Given the description of an element on the screen output the (x, y) to click on. 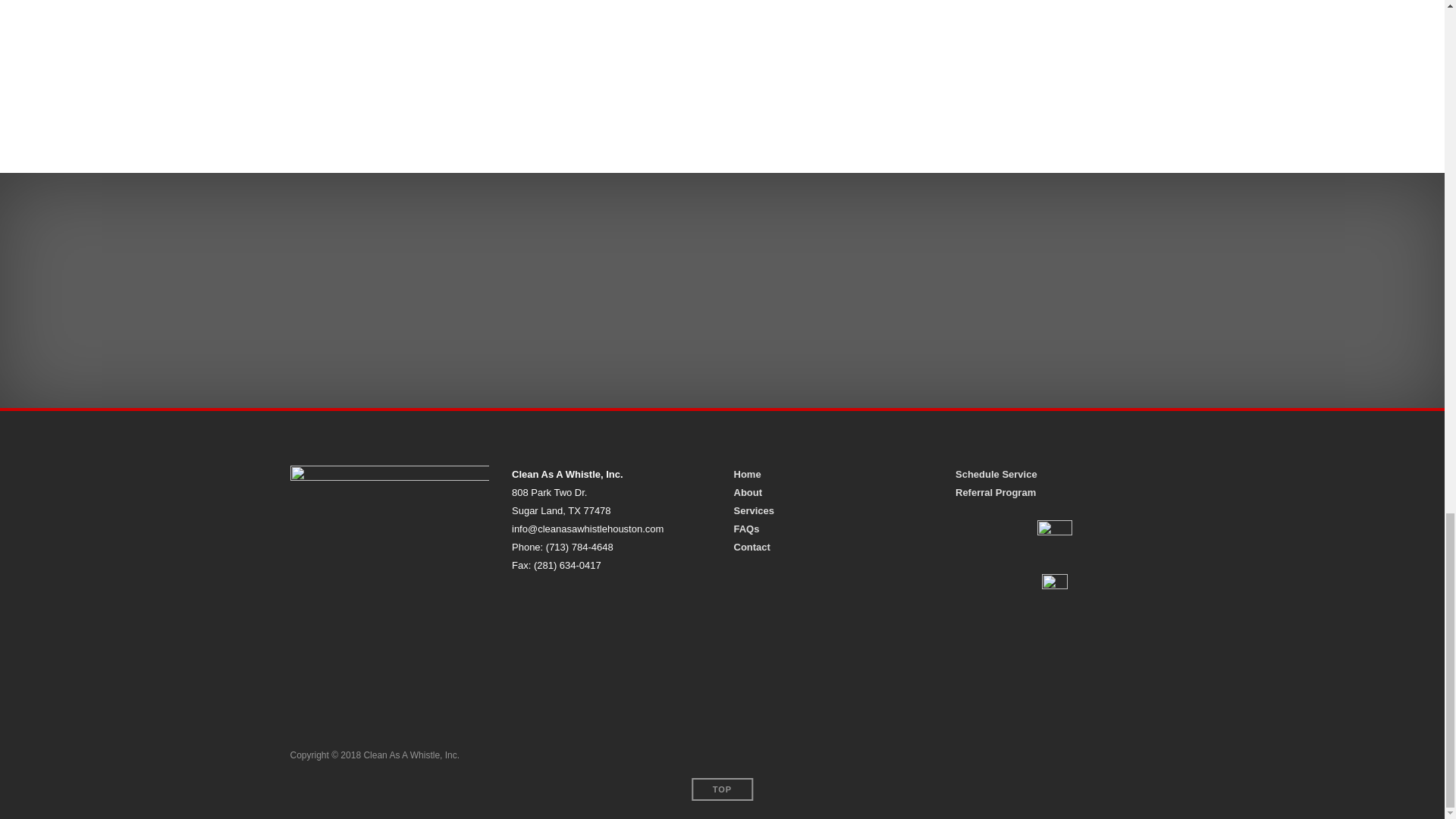
Home (747, 473)
updated website logos (721, 65)
